Given the description of an element on the screen output the (x, y) to click on. 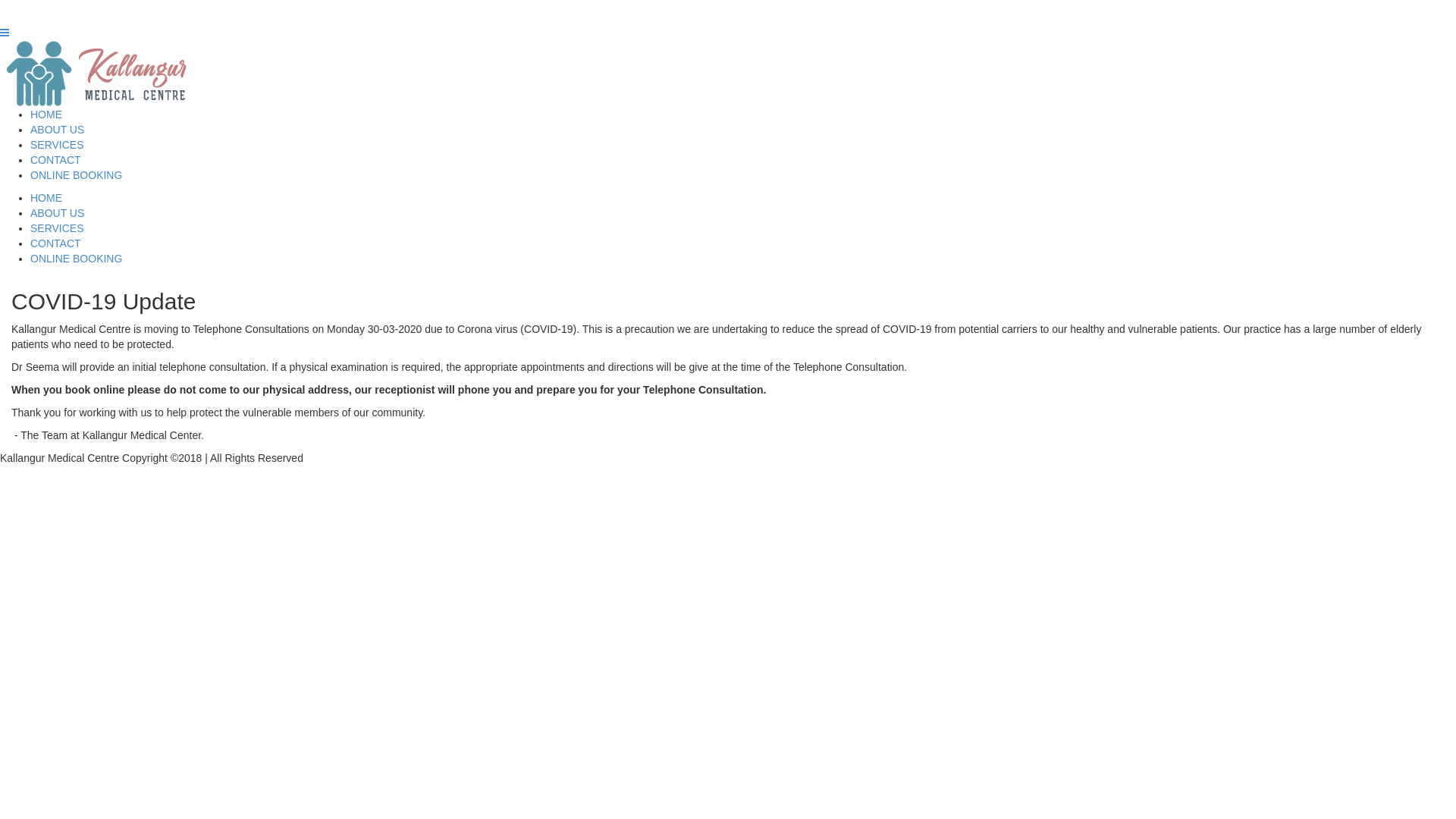
SERVICES Element type: text (57, 144)
HOME Element type: text (46, 114)
SERVICES Element type: text (57, 228)
ABOUT US Element type: text (57, 129)
Contact Us 07 3448 0400 Element type: text (70, 7)
ONLINE BOOKING Element type: text (76, 175)
ABOUT US Element type: text (57, 213)
ONLINE BOOKING Element type: text (76, 258)
CONTACT Element type: text (55, 159)
CONTACT Element type: text (55, 243)
HOME Element type: text (46, 197)
